Given the description of an element on the screen output the (x, y) to click on. 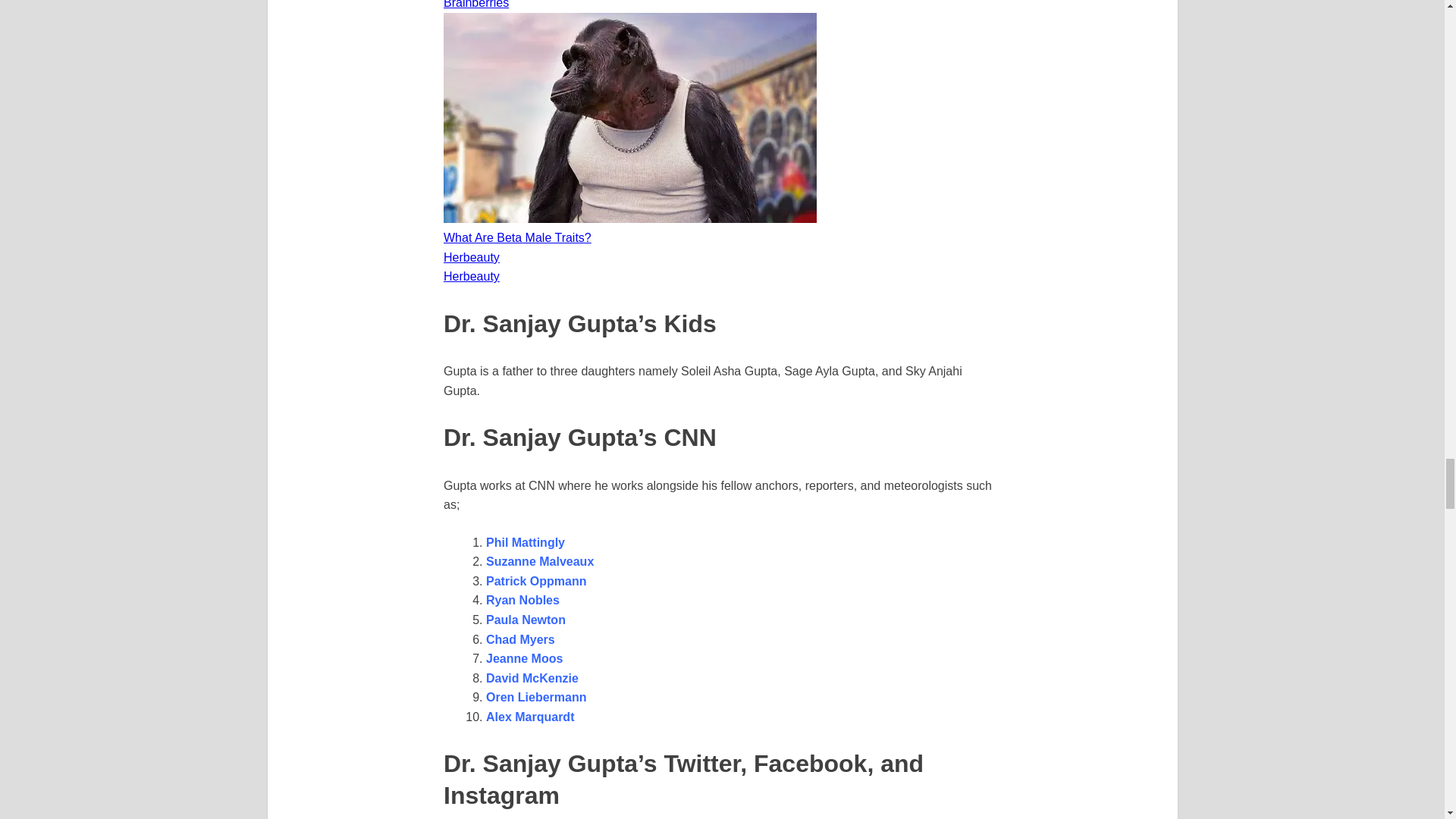
Chad Myers (520, 639)
Patrick Oppmann  (537, 581)
Oren Liebermann (536, 697)
